Given the description of an element on the screen output the (x, y) to click on. 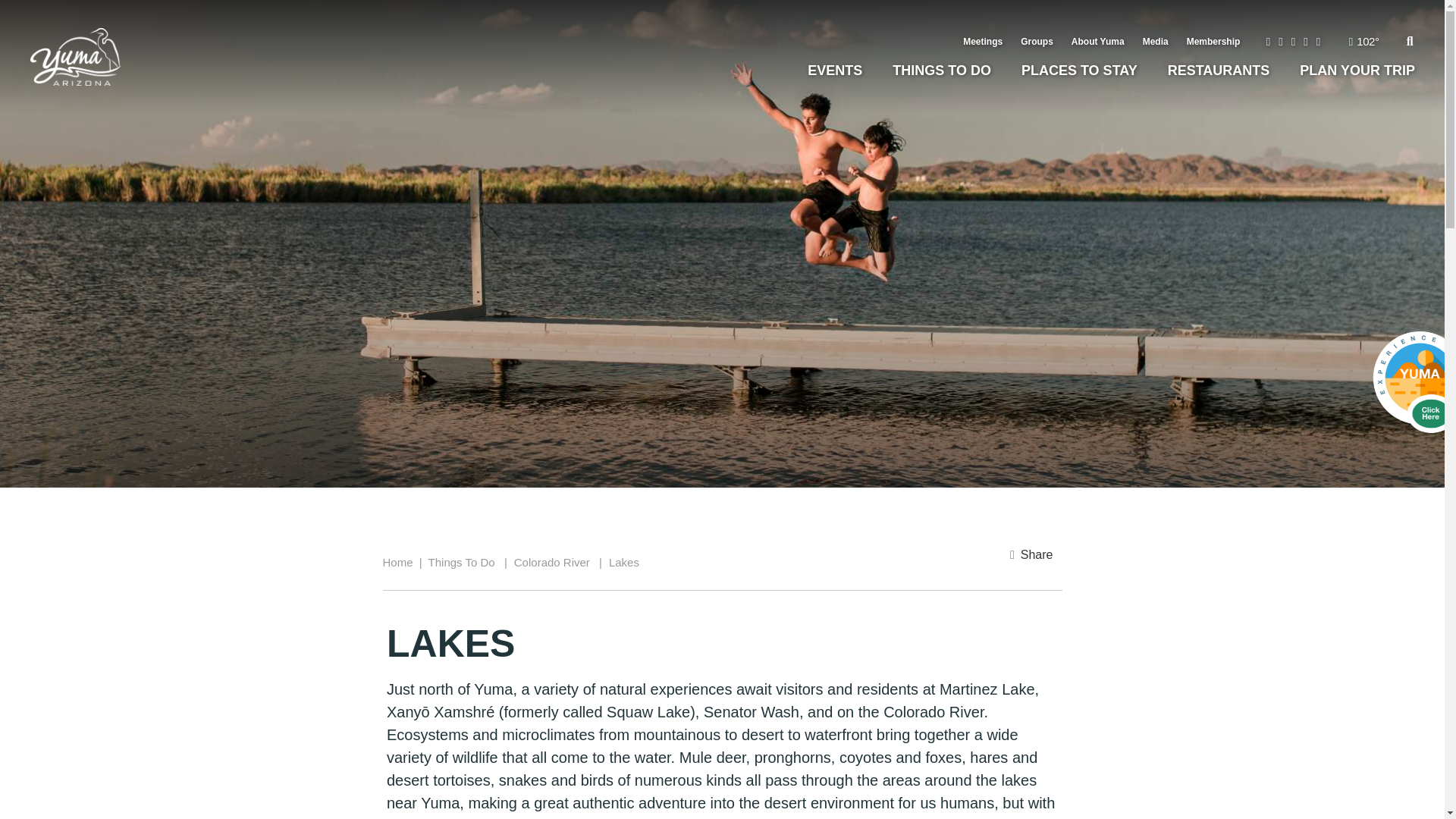
Media (1155, 40)
PLACES TO STAY (1079, 69)
About Yuma (1098, 40)
PLAN YOUR TRIP (1356, 69)
Meetings (982, 40)
THINGS TO DO (941, 69)
RESTAURANTS (1219, 69)
EVENTS (834, 69)
Groups (1036, 40)
Membership (1213, 40)
